Given the description of an element on the screen output the (x, y) to click on. 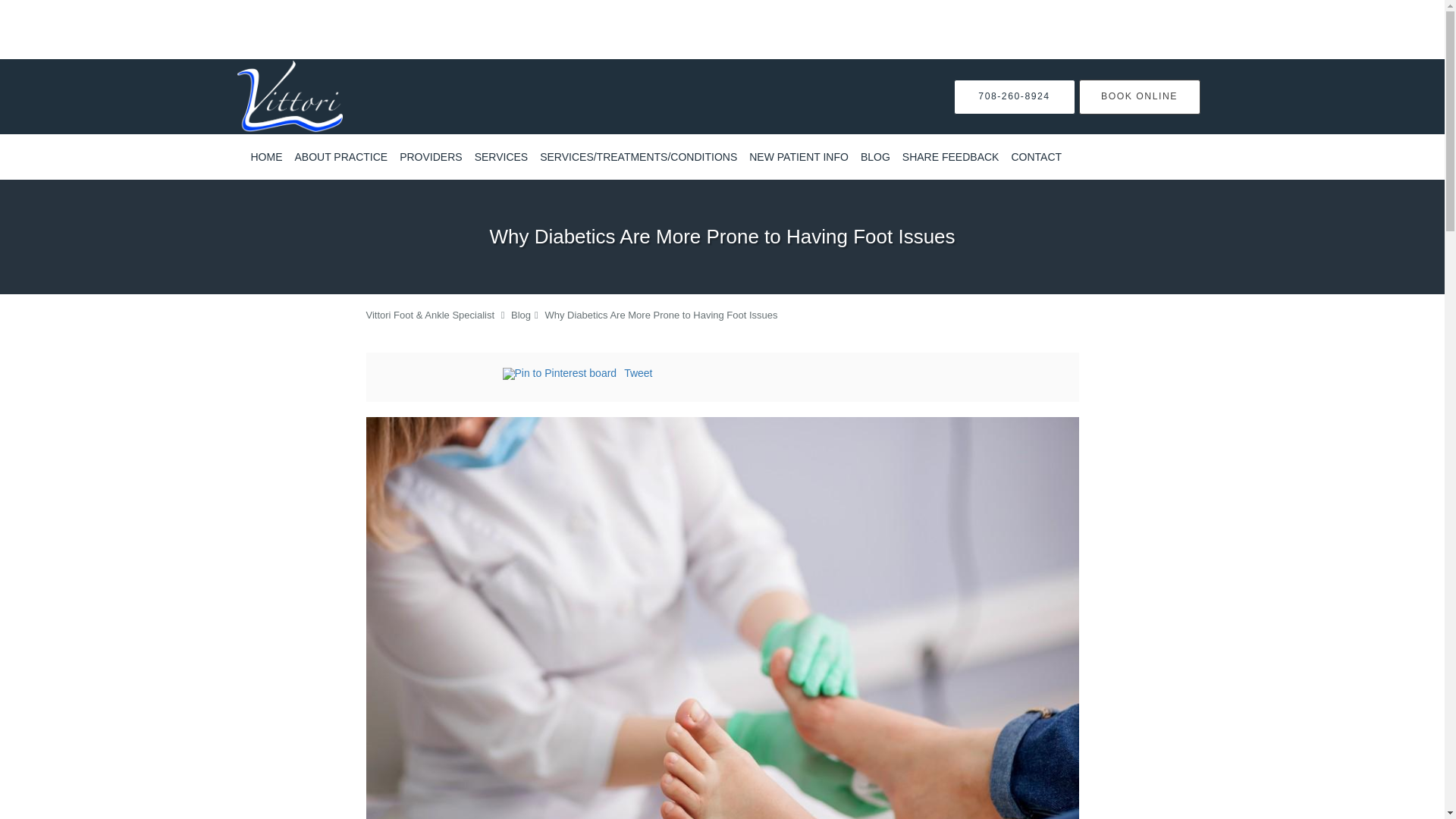
BOOK ONLINE (1138, 95)
CONTACT (1035, 157)
Blog (521, 315)
Facebook social button (441, 375)
SERVICES (501, 157)
708-260-8924 (1014, 95)
PROVIDERS (430, 157)
Why Diabetics Are More Prone to Having Foot Issues (660, 315)
SHARE FEEDBACK (951, 157)
ABOUT PRACTICE (340, 157)
